Given the description of an element on the screen output the (x, y) to click on. 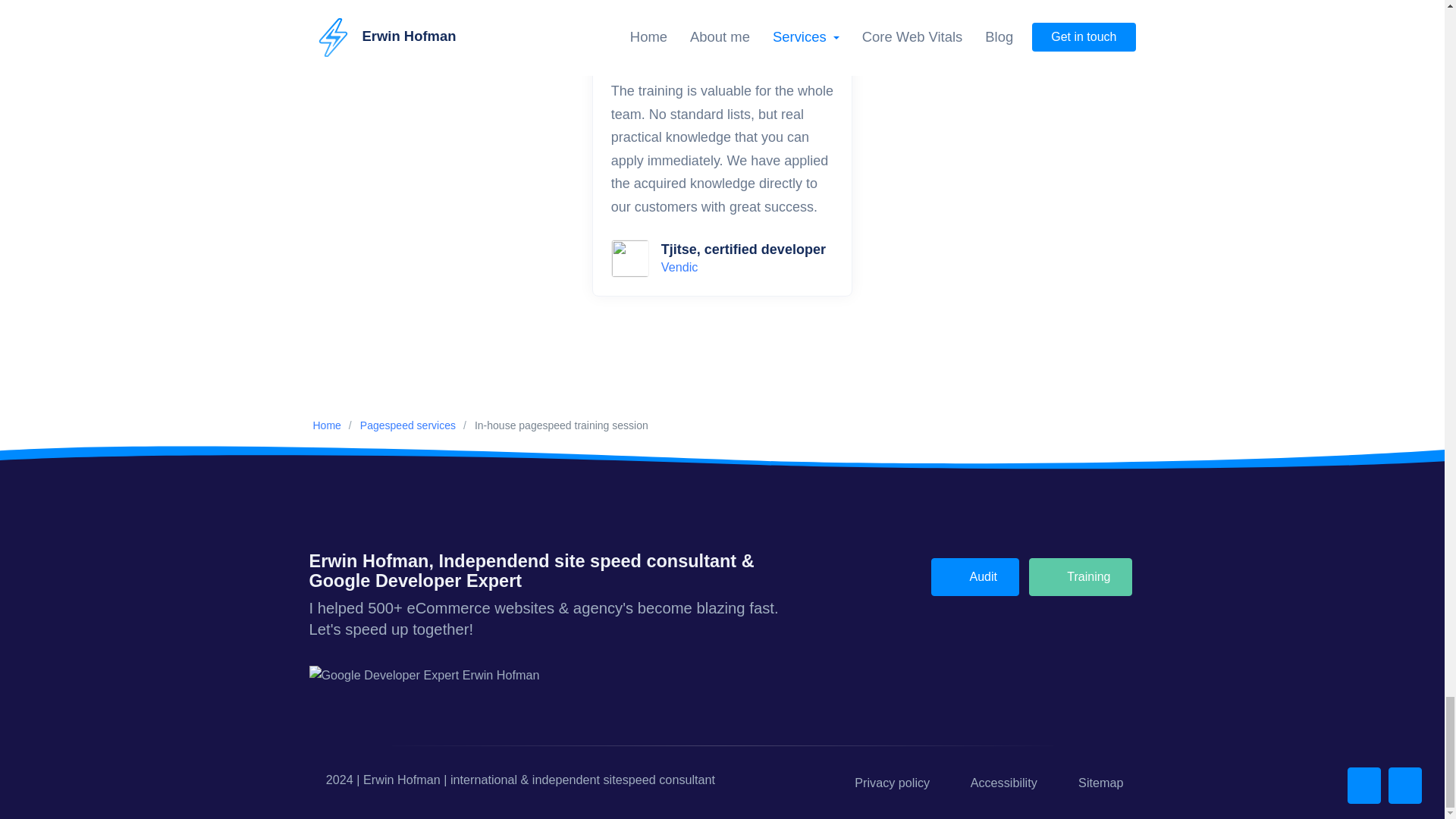
Vendic (679, 266)
